Given the description of an element on the screen output the (x, y) to click on. 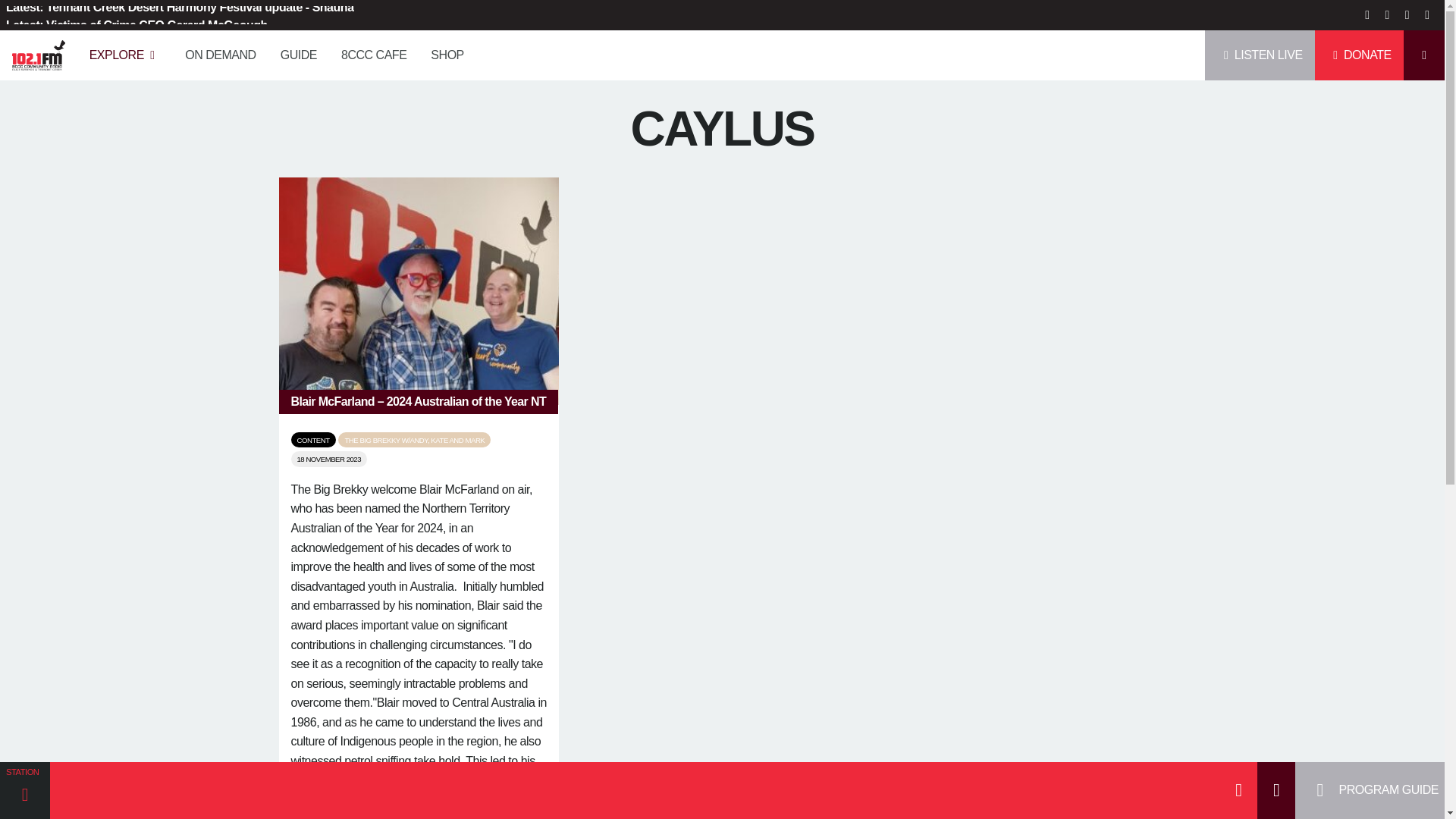
Latest: Pre-election issues with MLA Joshua Burgoyne (179, 14)
GUIDE (328, 48)
ON DEMAND (250, 48)
SHOP (477, 48)
EXPLORE (155, 48)
LISTEN LIVE (1259, 48)
8CCC CAFE (403, 48)
DONATE (1358, 48)
